Given the description of an element on the screen output the (x, y) to click on. 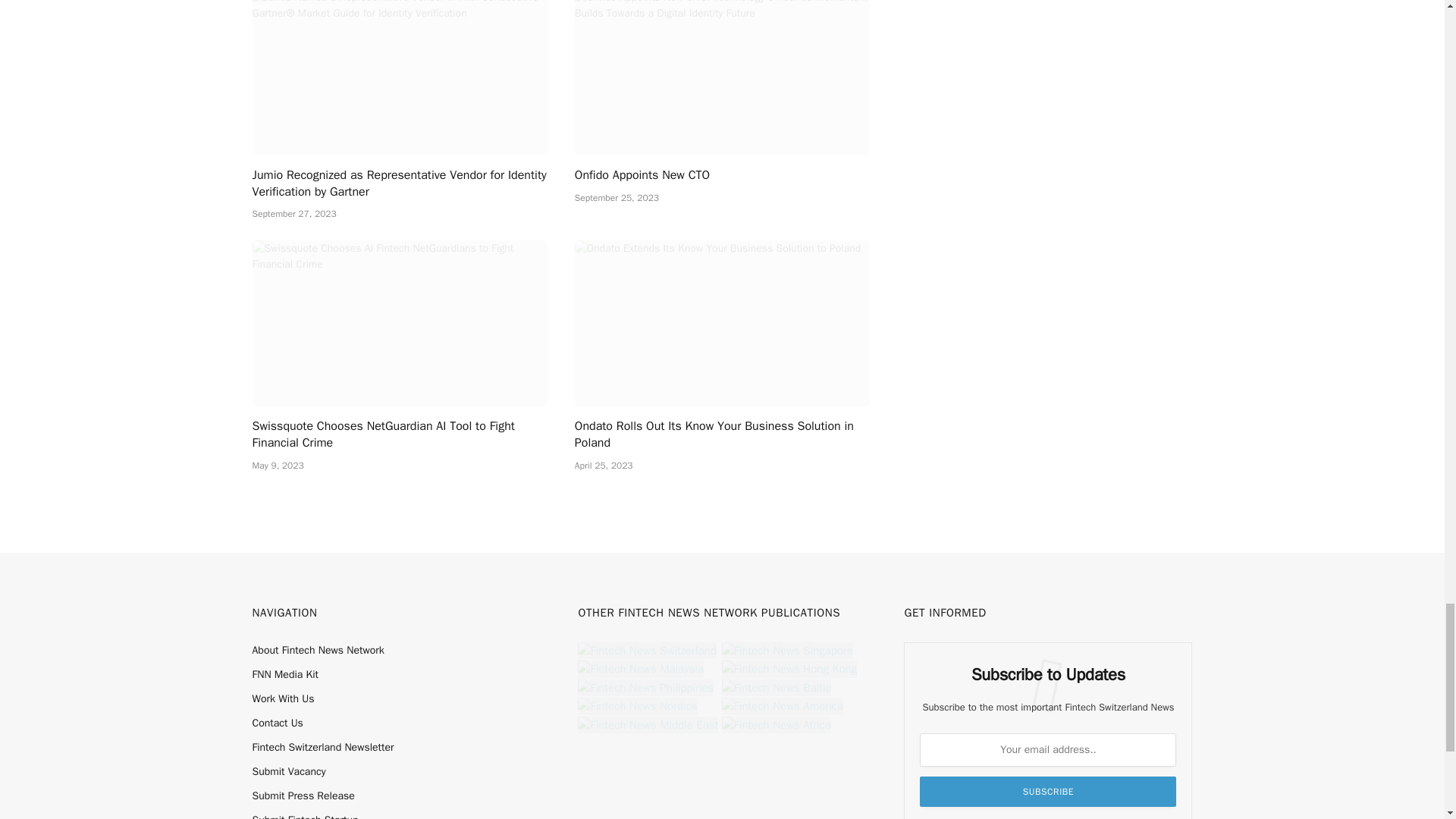
Subscribe (1048, 791)
